Given the description of an element on the screen output the (x, y) to click on. 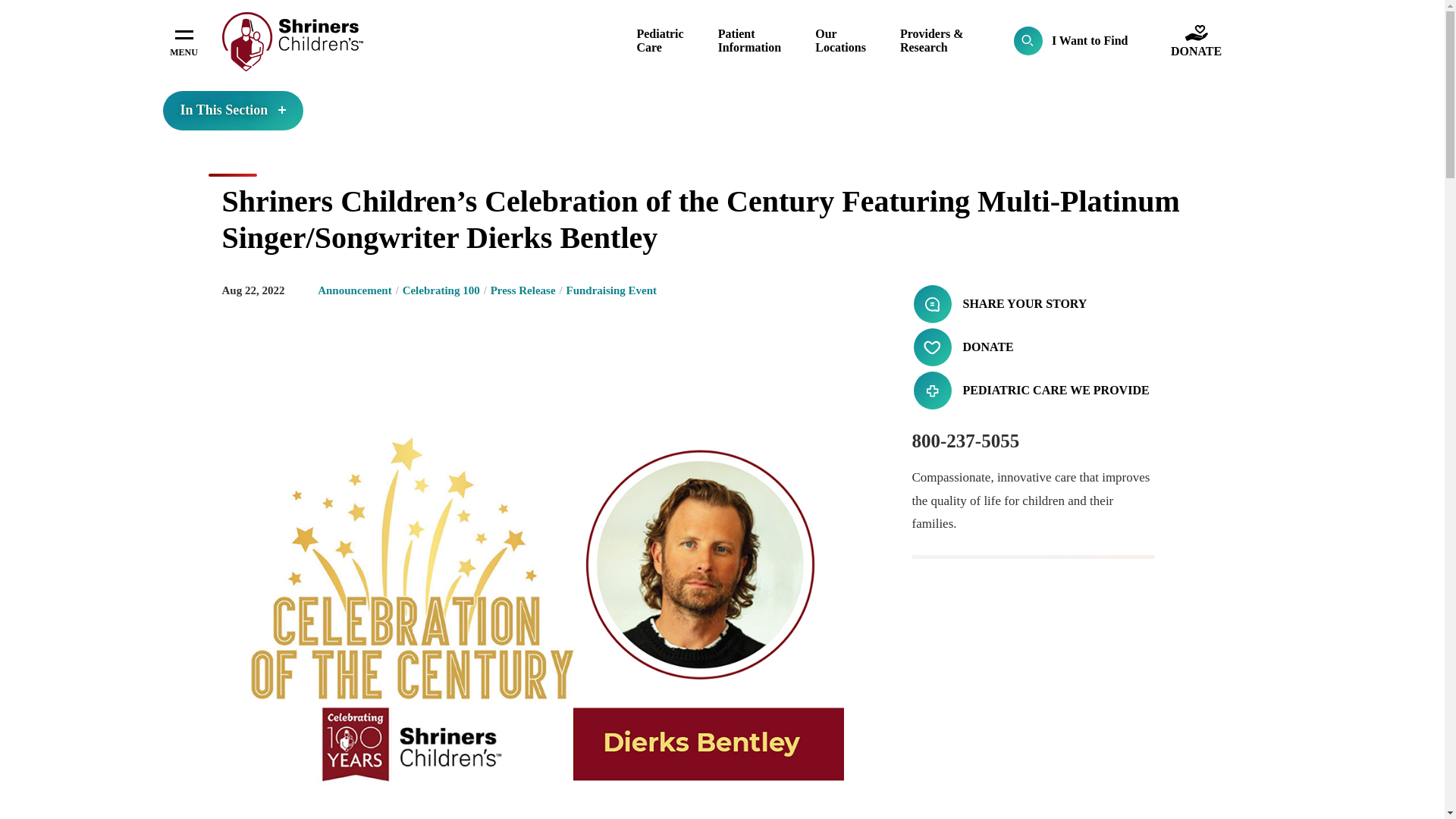
Pediatric Care (659, 40)
Our Locations (840, 40)
MENU (183, 40)
I Want to Find (1070, 40)
Patient Information (749, 40)
